Given the description of an element on the screen output the (x, y) to click on. 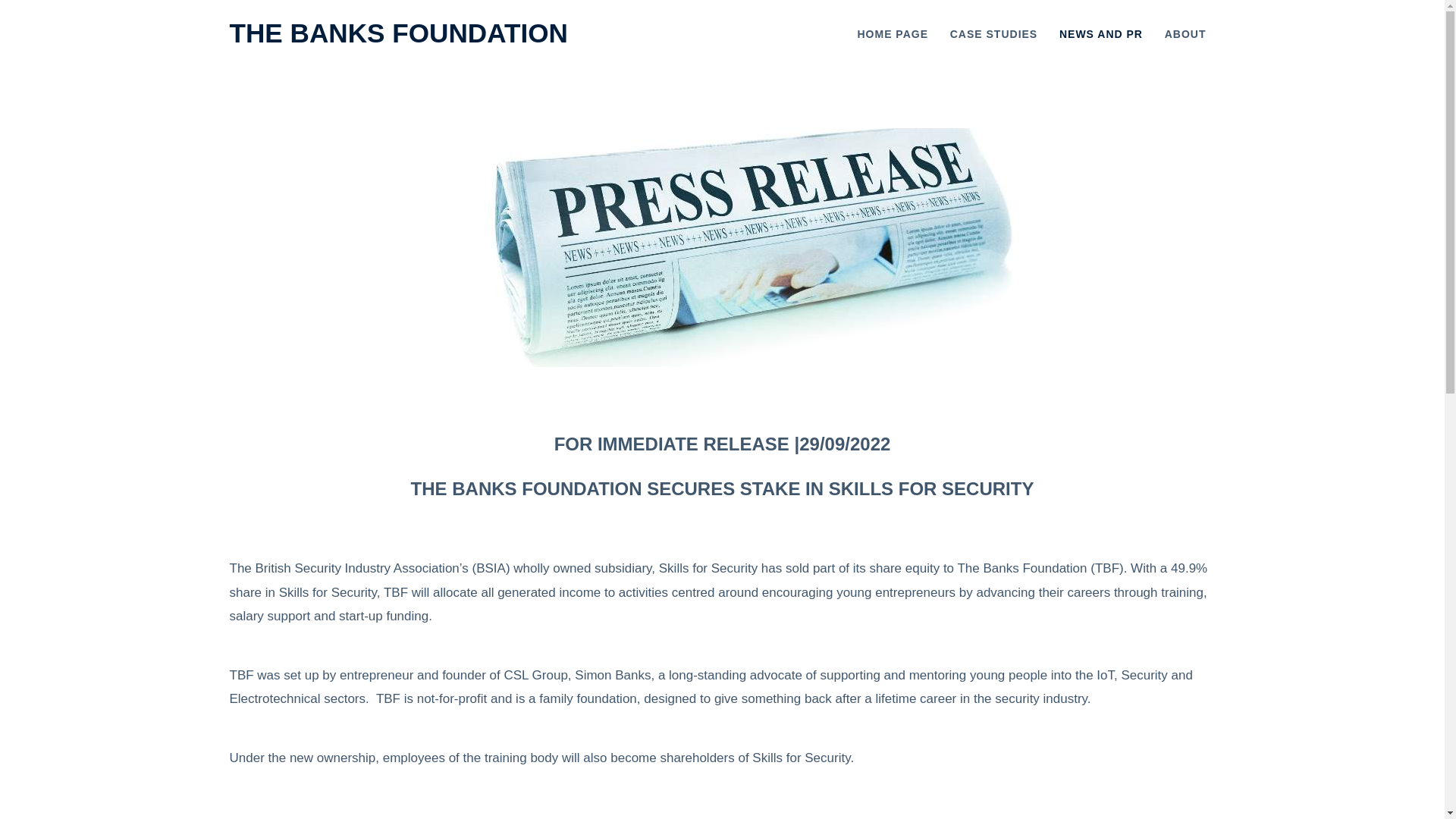
ABOUT (1185, 33)
HOME PAGE (892, 33)
NEWS AND PR (1100, 33)
THE BANKS FOUNDATION (397, 32)
CASE STUDIES (993, 33)
